Given the description of an element on the screen output the (x, y) to click on. 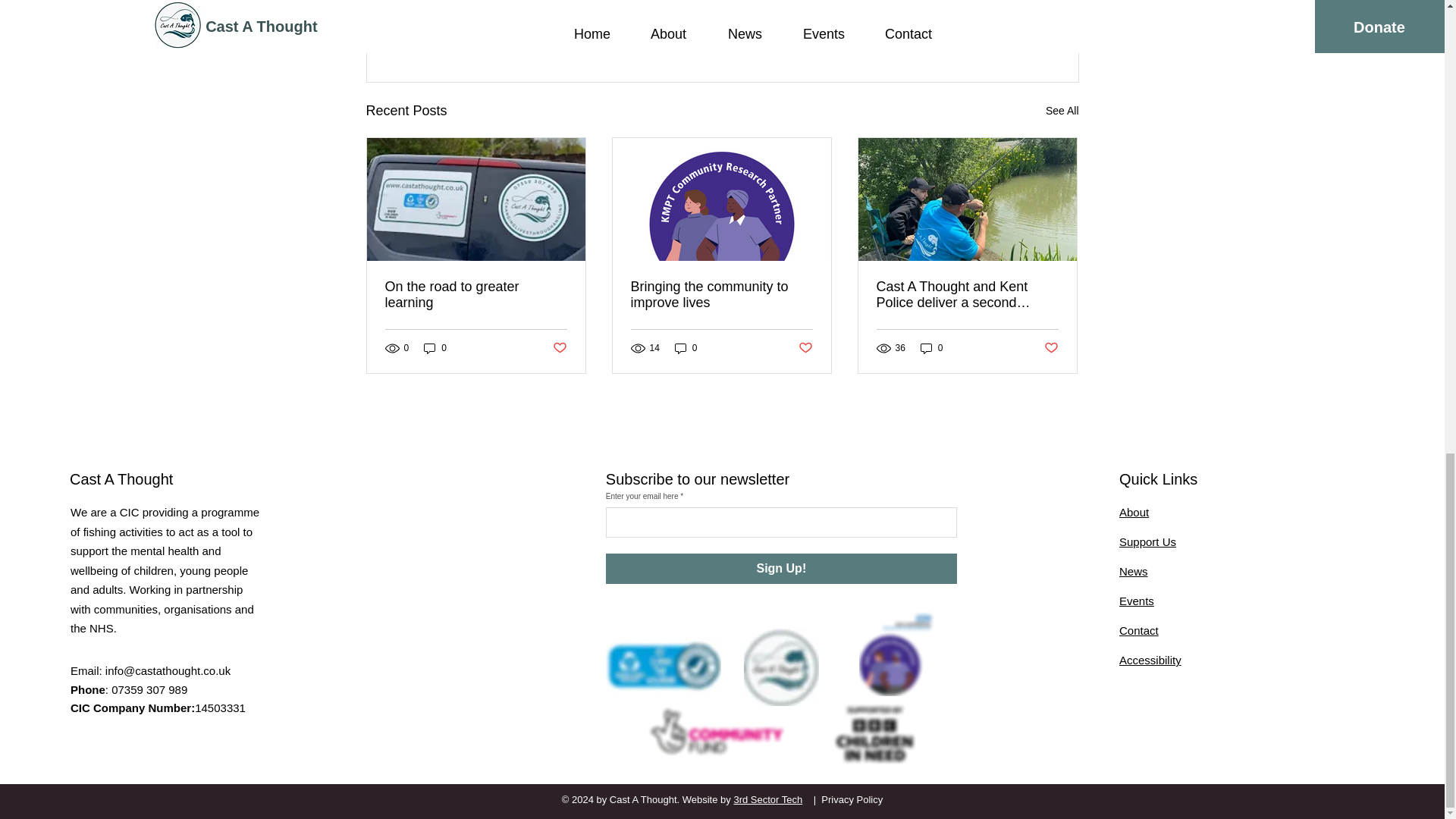
0 (685, 348)
07359 307 989 (149, 689)
On the road to greater learning (476, 295)
Post not marked as liked (995, 28)
Post not marked as liked (804, 347)
0 (931, 348)
Bringing the community to improve lives (721, 295)
0 (435, 348)
Post not marked as liked (1050, 347)
See All (1061, 110)
Post not marked as liked (558, 347)
